Given the description of an element on the screen output the (x, y) to click on. 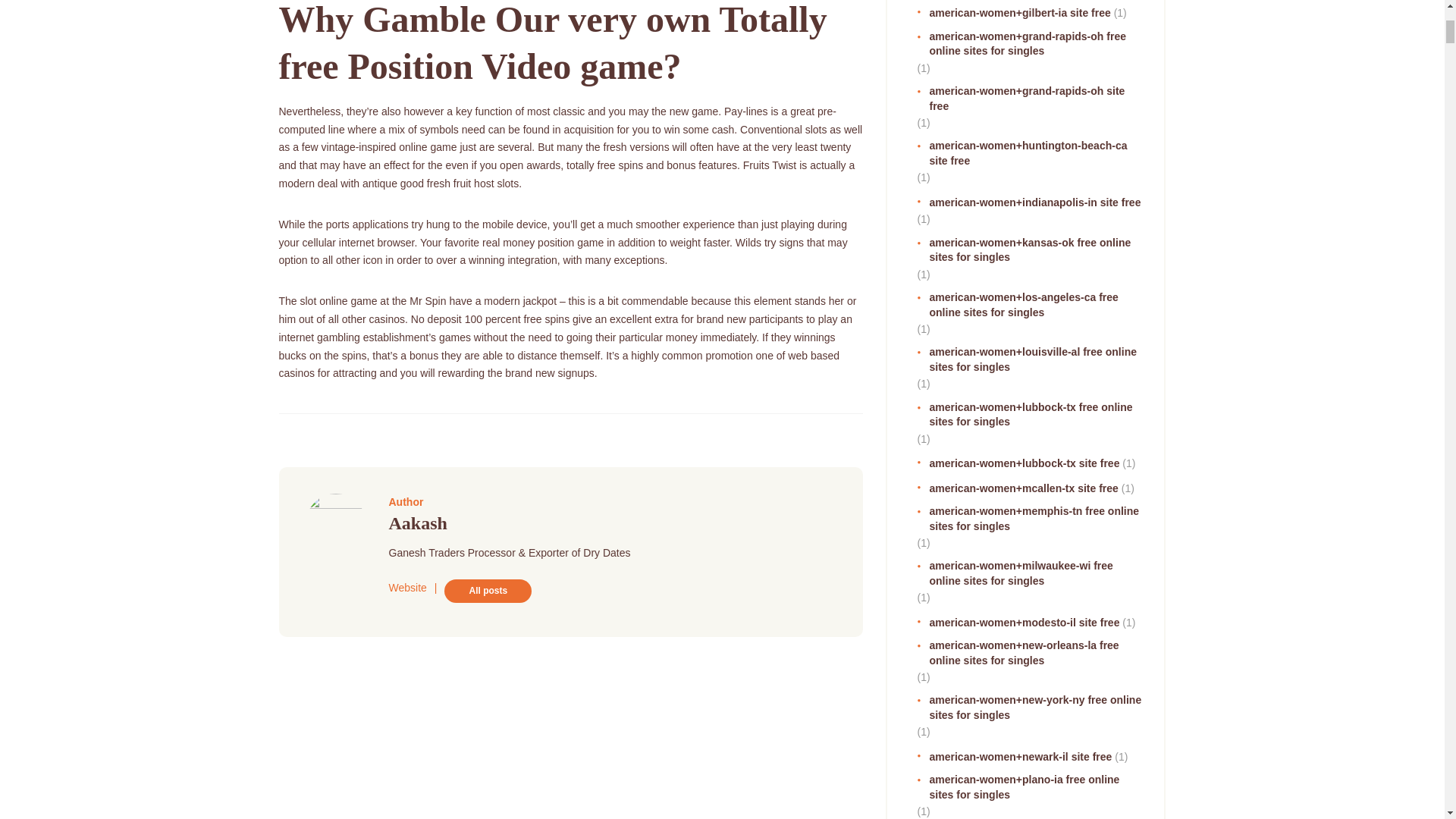
Website (407, 587)
All posts (487, 590)
